Given the description of an element on the screen output the (x, y) to click on. 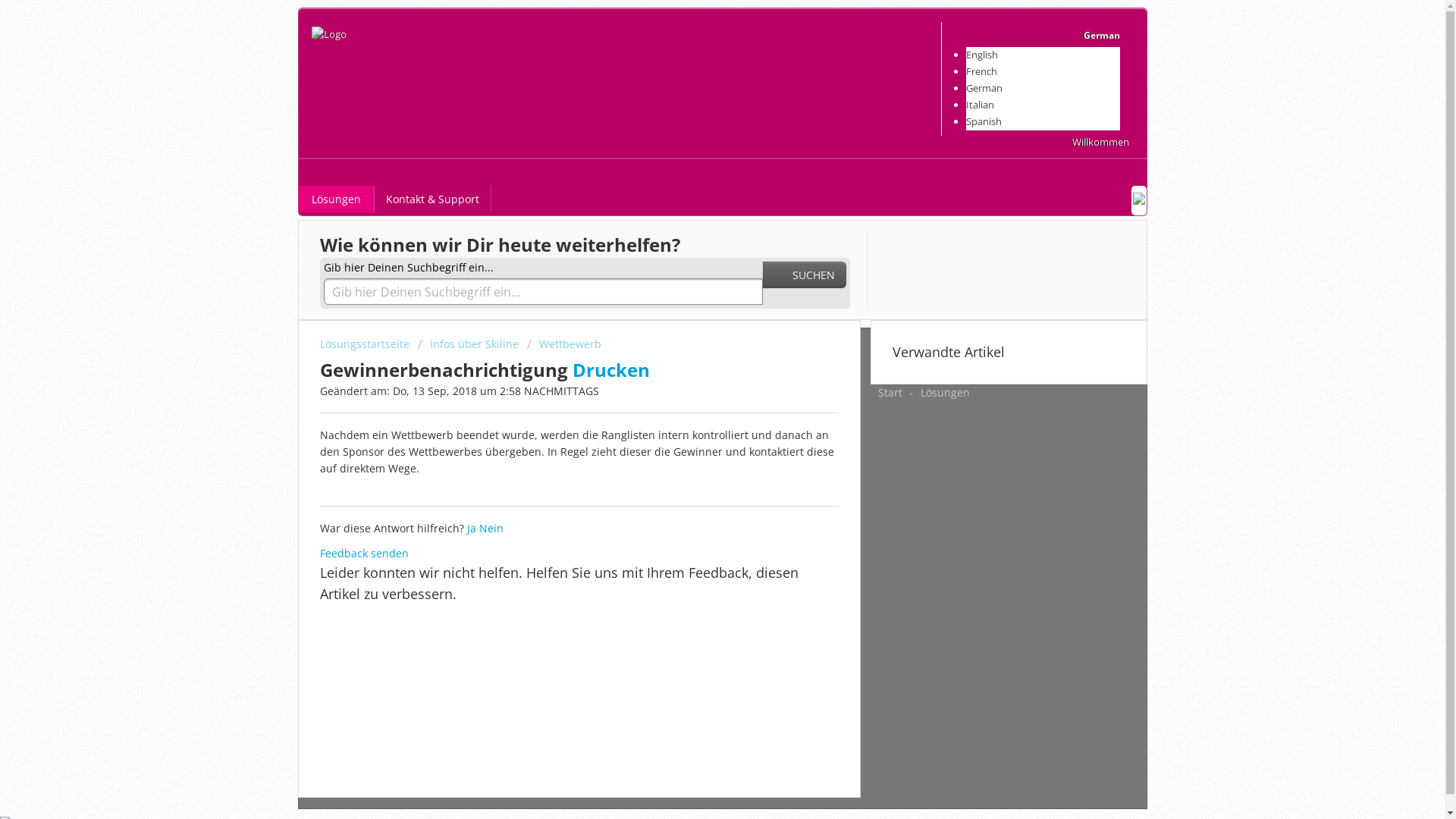
German Element type: text (984, 87)
French Element type: text (981, 71)
Kontakt & Support Element type: text (432, 198)
Spanish Element type: text (983, 121)
Italian Element type: text (980, 104)
Wettbewerb Element type: text (563, 343)
SUCHEN Element type: text (804, 274)
English Element type: text (981, 54)
Feedback senden Element type: text (364, 553)
Start Element type: text (890, 392)
Drucken Element type: text (610, 369)
